Given the description of an element on the screen output the (x, y) to click on. 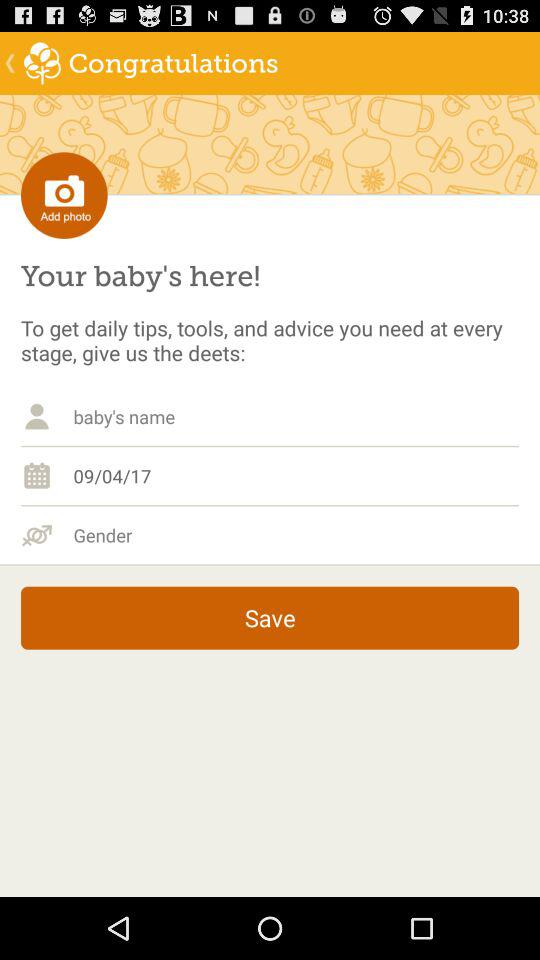
enter baby 's name (296, 416)
